Given the description of an element on the screen output the (x, y) to click on. 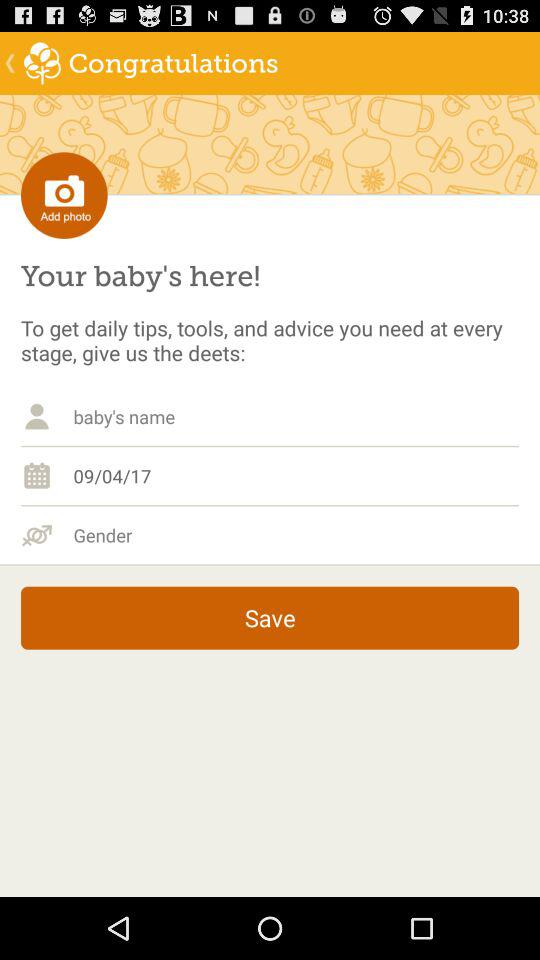
enter baby 's name (296, 416)
